Given the description of an element on the screen output the (x, y) to click on. 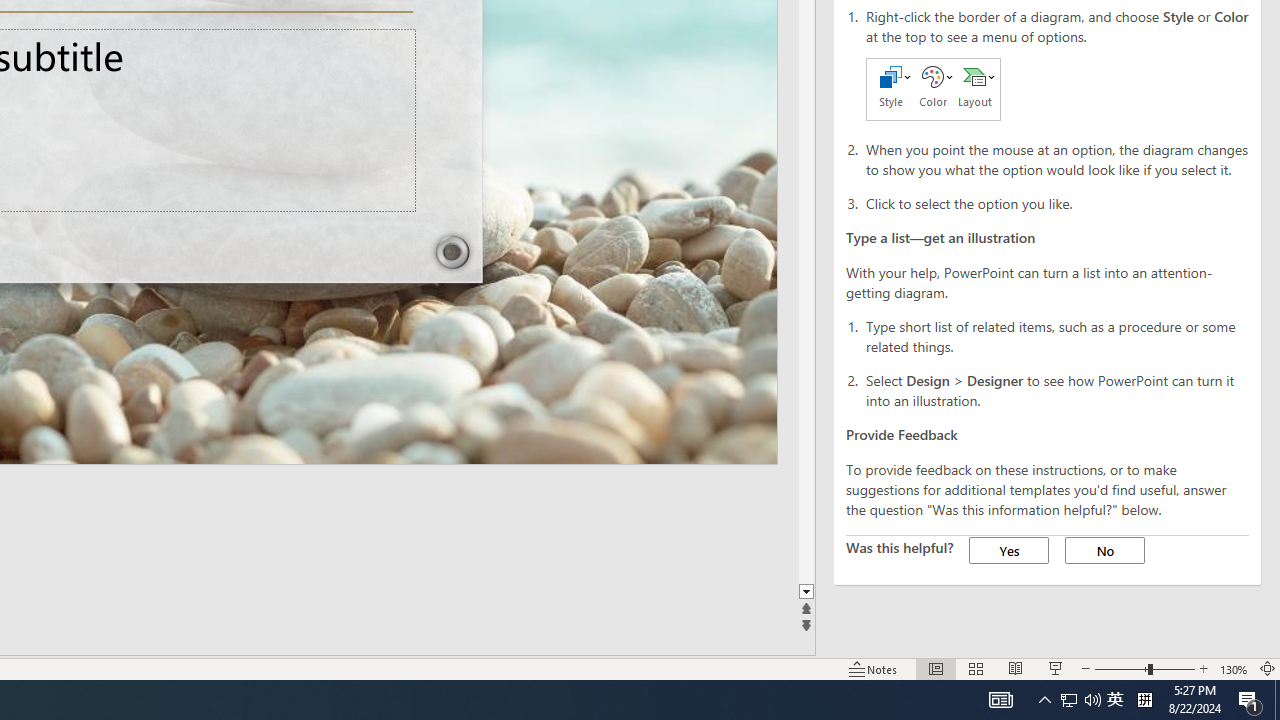
Yes (1008, 550)
Zoom 130% (1234, 668)
No (1104, 550)
